Given the description of an element on the screen output the (x, y) to click on. 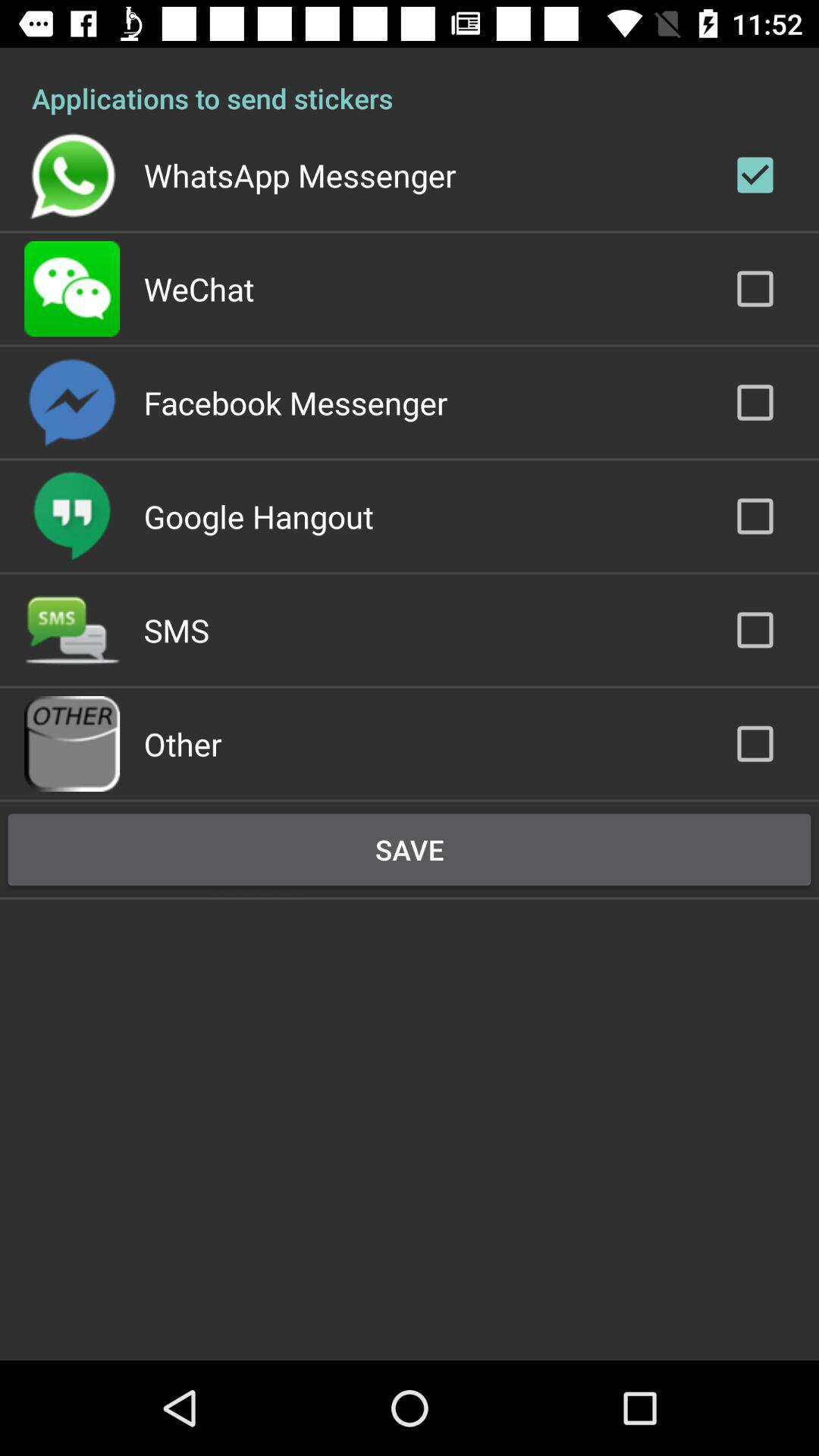
turn off the app above other (176, 629)
